Given the description of an element on the screen output the (x, y) to click on. 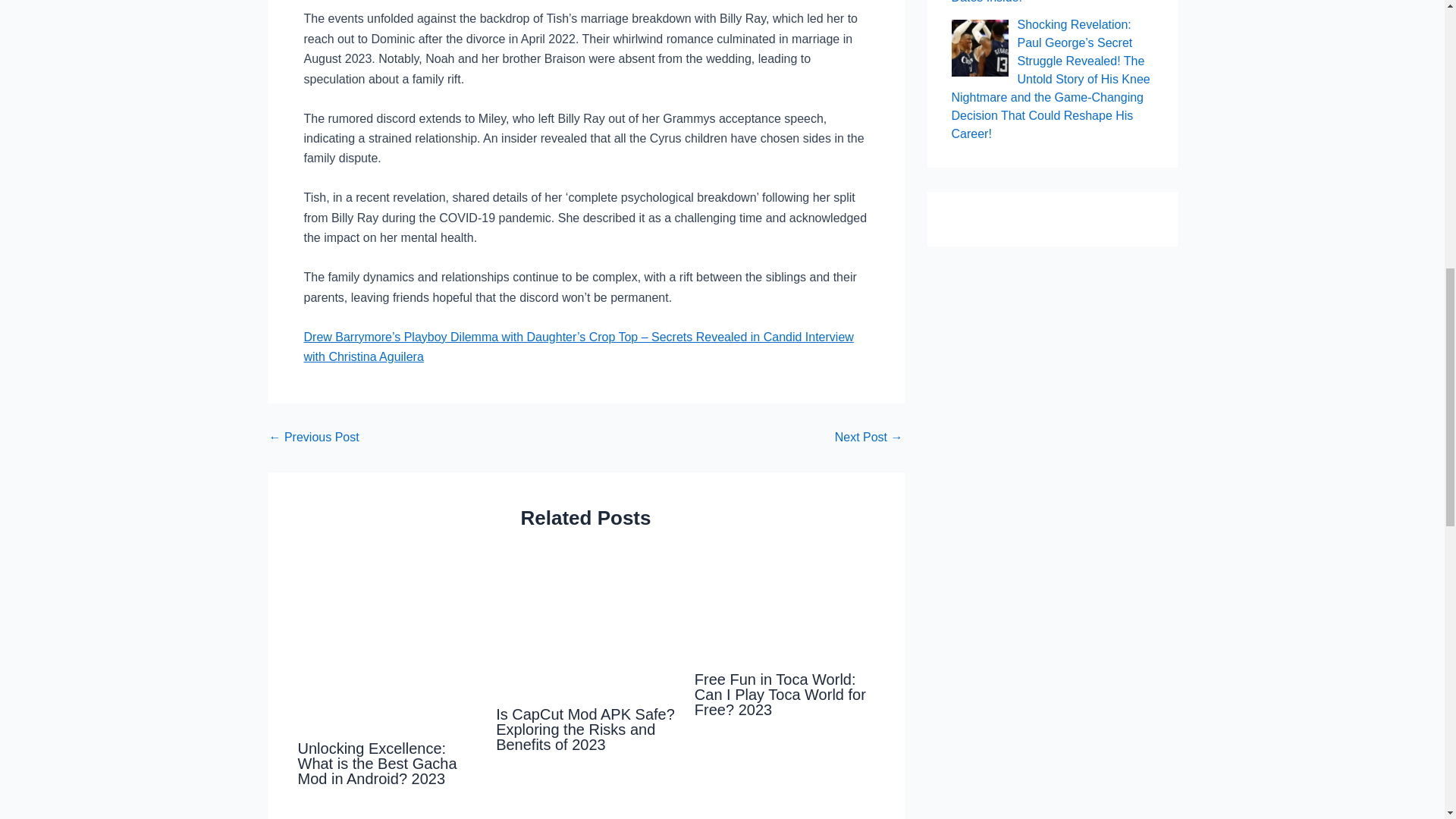
Free Fun in Toca World: Can I Play Toca World for Free? 2023 (780, 694)
Love (563, 625)
Love (382, 642)
Love (784, 608)
